Given the description of an element on the screen output the (x, y) to click on. 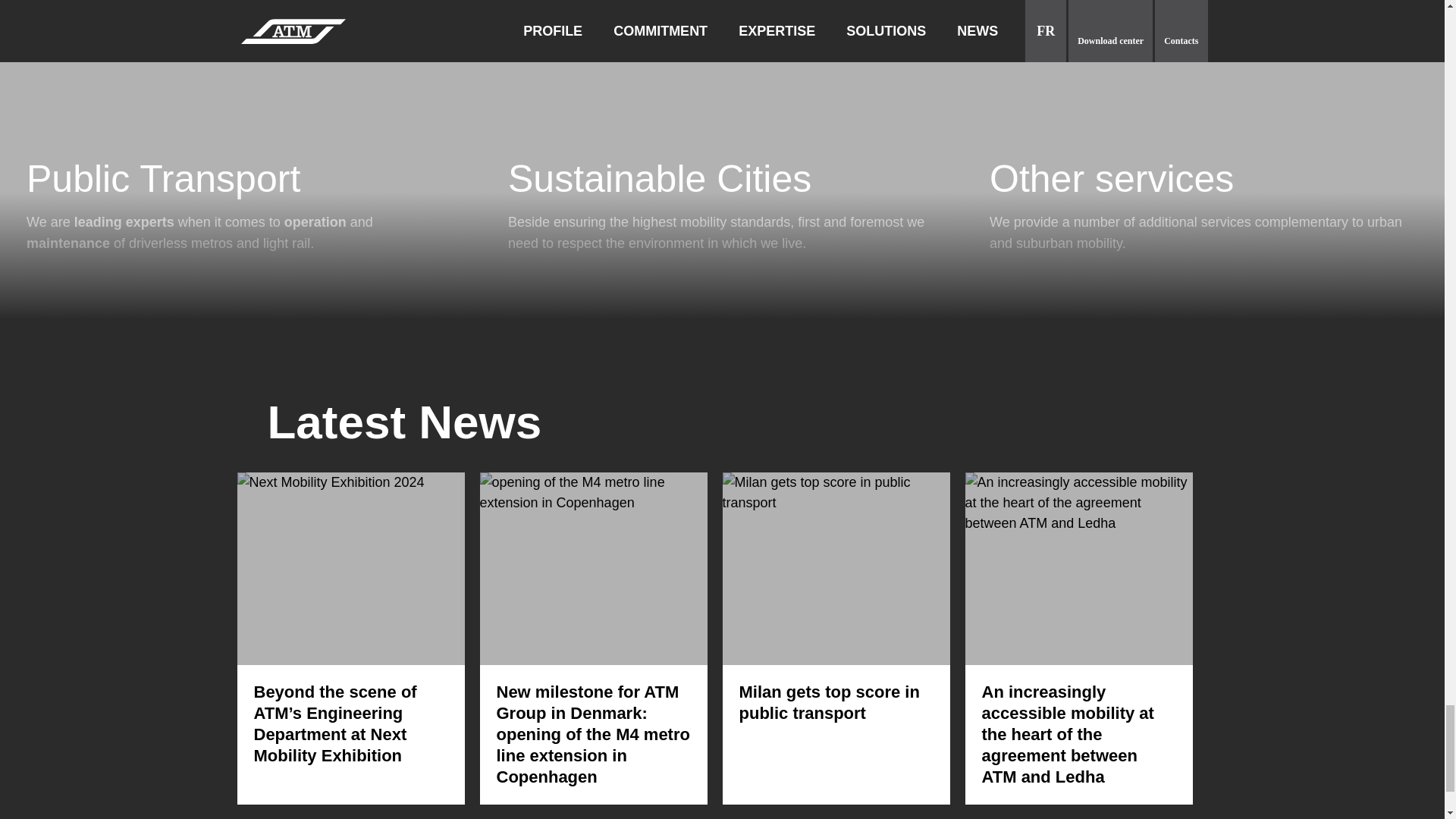
Public Transport (240, 178)
Sustainable Cities (722, 178)
Other services (1204, 178)
Milan gets top score in public transport (828, 702)
